Given the description of an element on the screen output the (x, y) to click on. 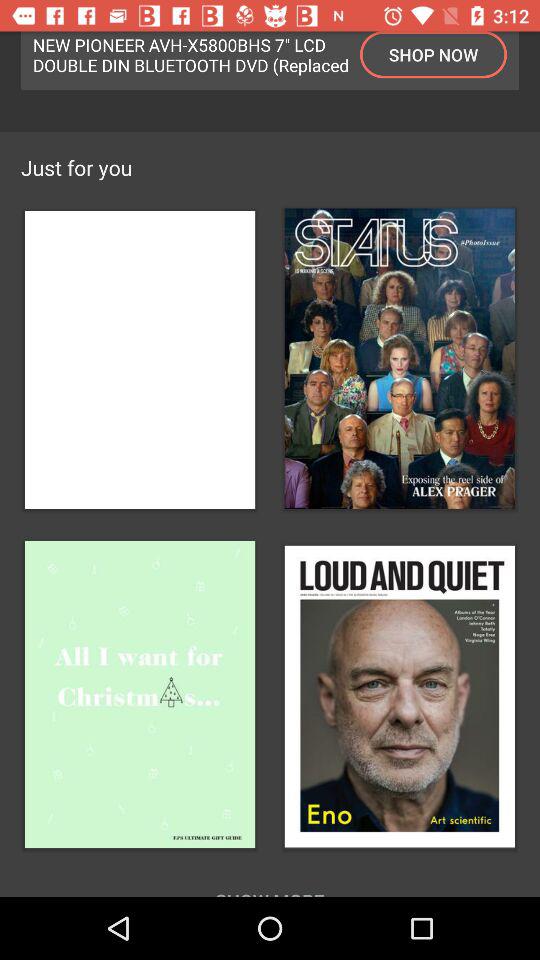
open item above the just for you (191, 54)
